Given the description of an element on the screen output the (x, y) to click on. 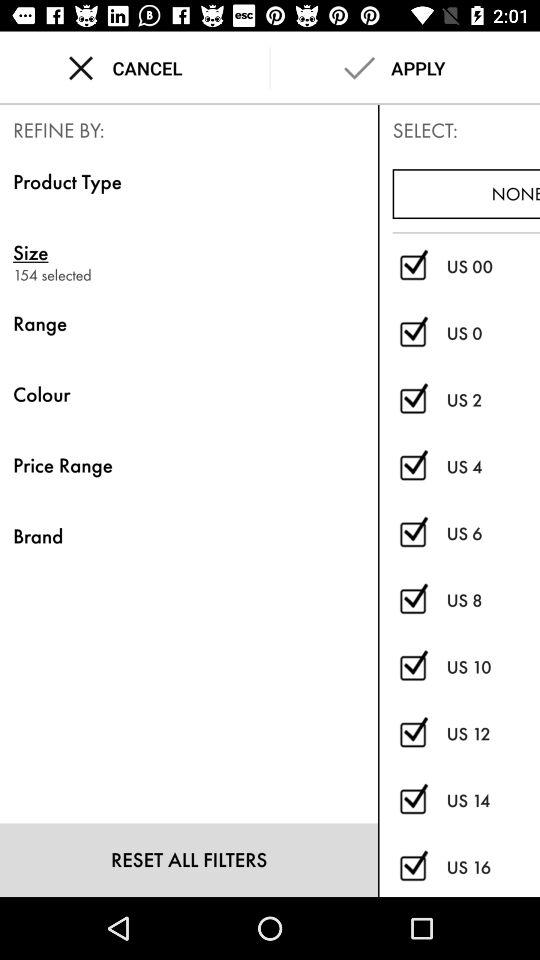
choose item below the us 4 item (493, 533)
